Given the description of an element on the screen output the (x, y) to click on. 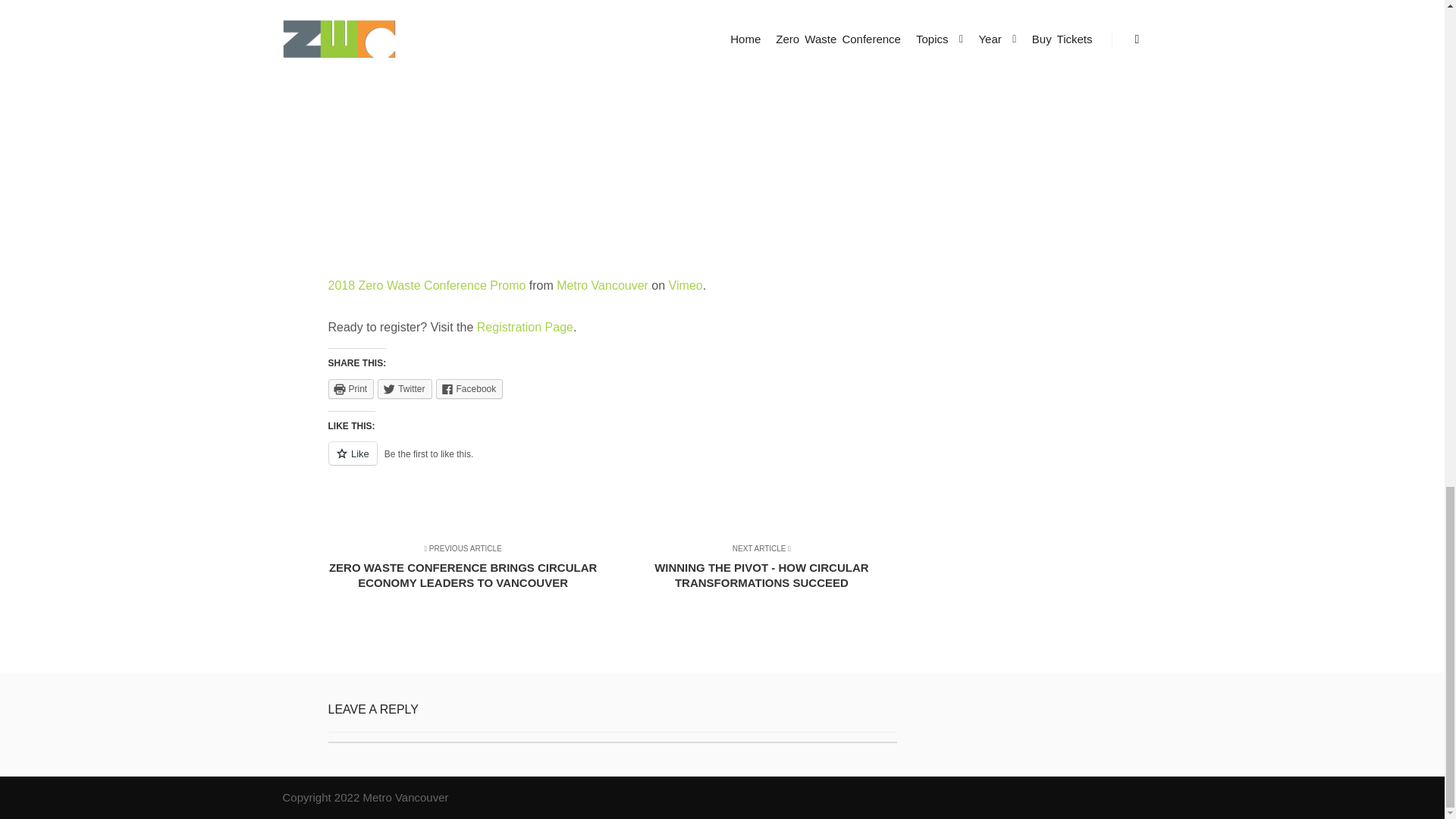
Click to print (350, 388)
Click to share on Facebook (469, 388)
Twitter (403, 388)
Metro Vancouver (601, 285)
Facebook (469, 388)
Click to share on Twitter (403, 388)
2018 Zero Waste Conference Promo (426, 285)
Registration Page (525, 327)
Print (350, 388)
Vimeo (685, 285)
